Given the description of an element on the screen output the (x, y) to click on. 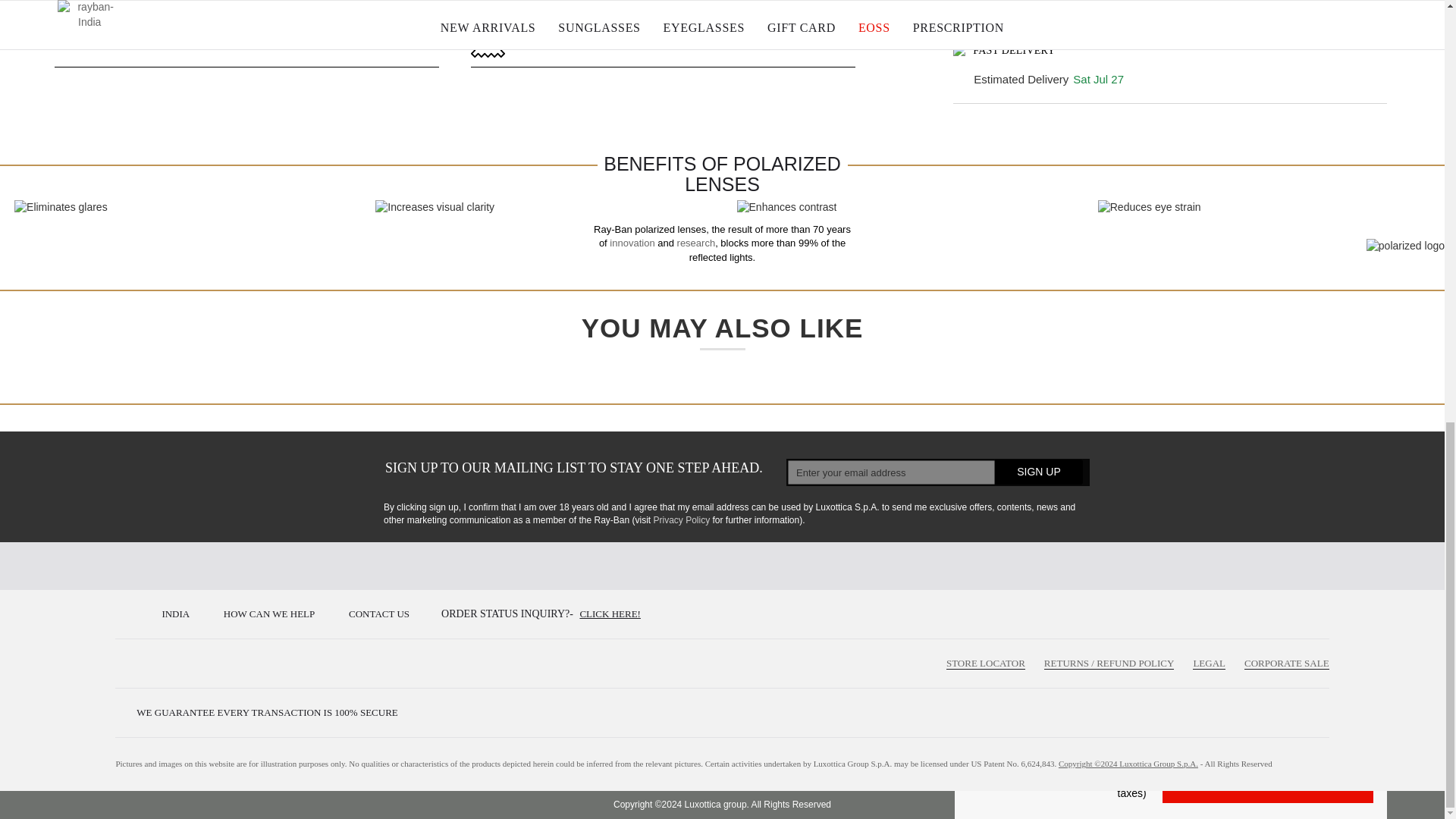
privacy policy (681, 520)
sign up (1038, 471)
